Given the description of an element on the screen output the (x, y) to click on. 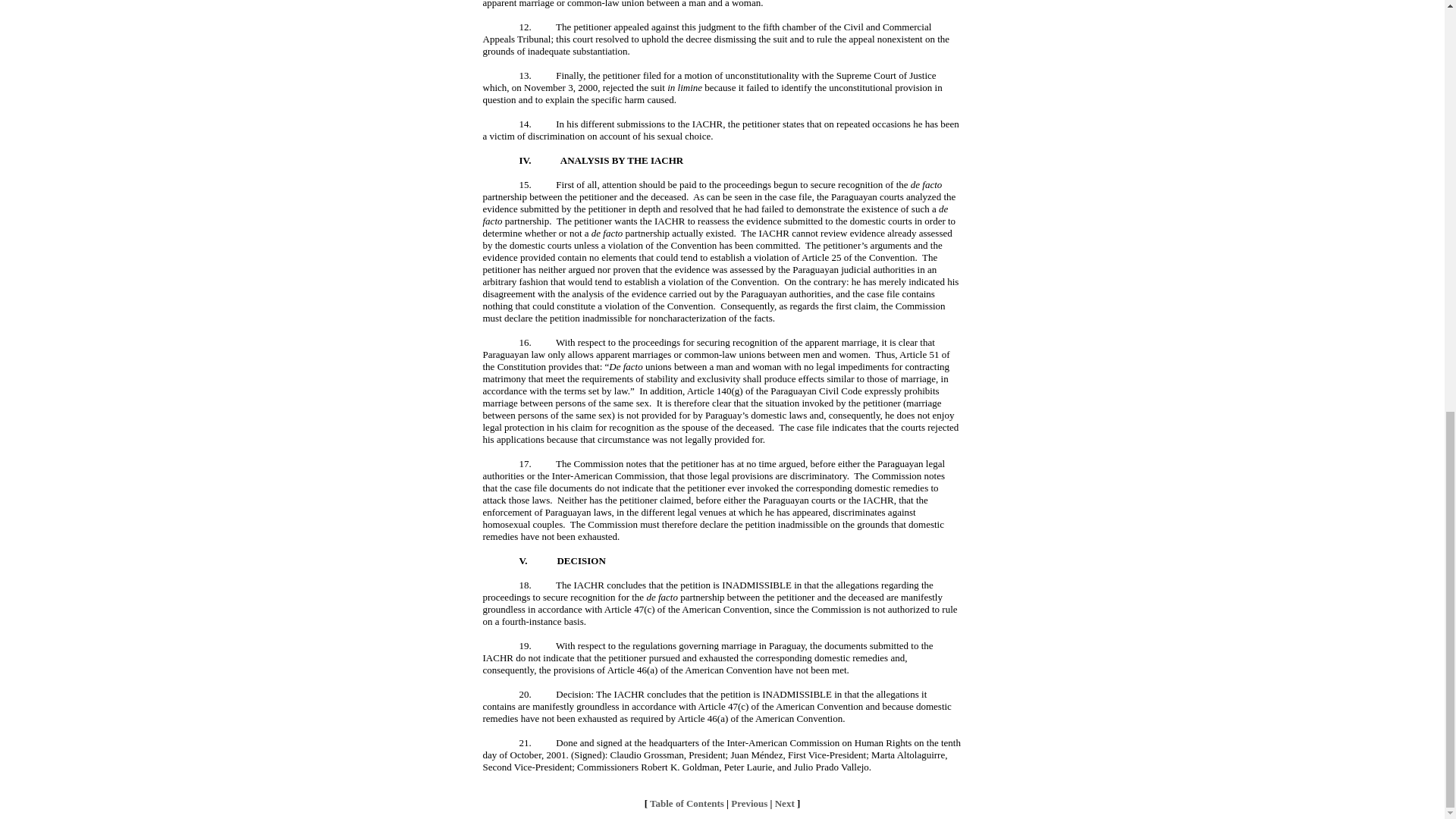
Previous (748, 803)
Next (784, 803)
Table of Contents (686, 803)
